Given the description of an element on the screen output the (x, y) to click on. 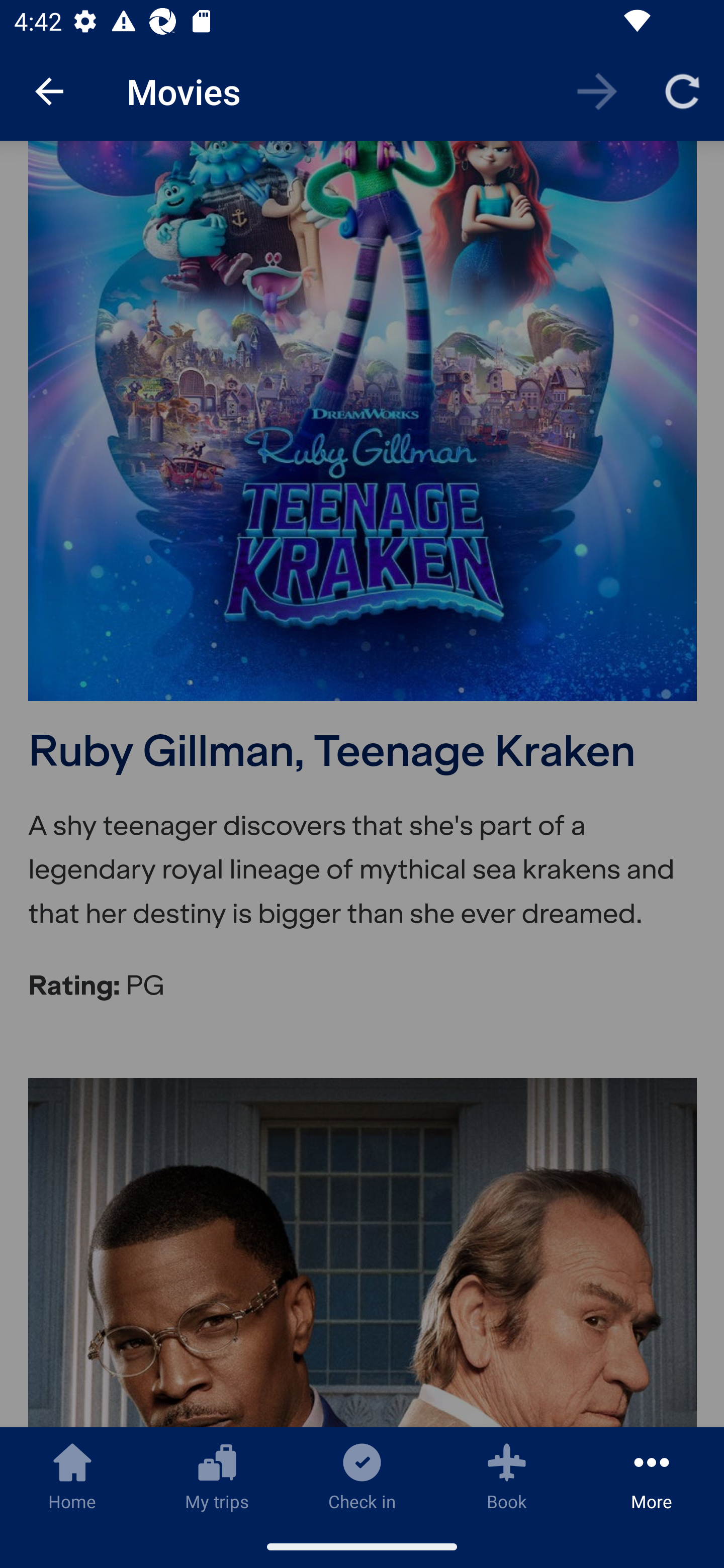
Navigate up (49, 91)
Forward (597, 90)
Reload (681, 90)
Home (72, 1475)
My trips (216, 1475)
Check in (361, 1475)
Book (506, 1475)
